Given the description of an element on the screen output the (x, y) to click on. 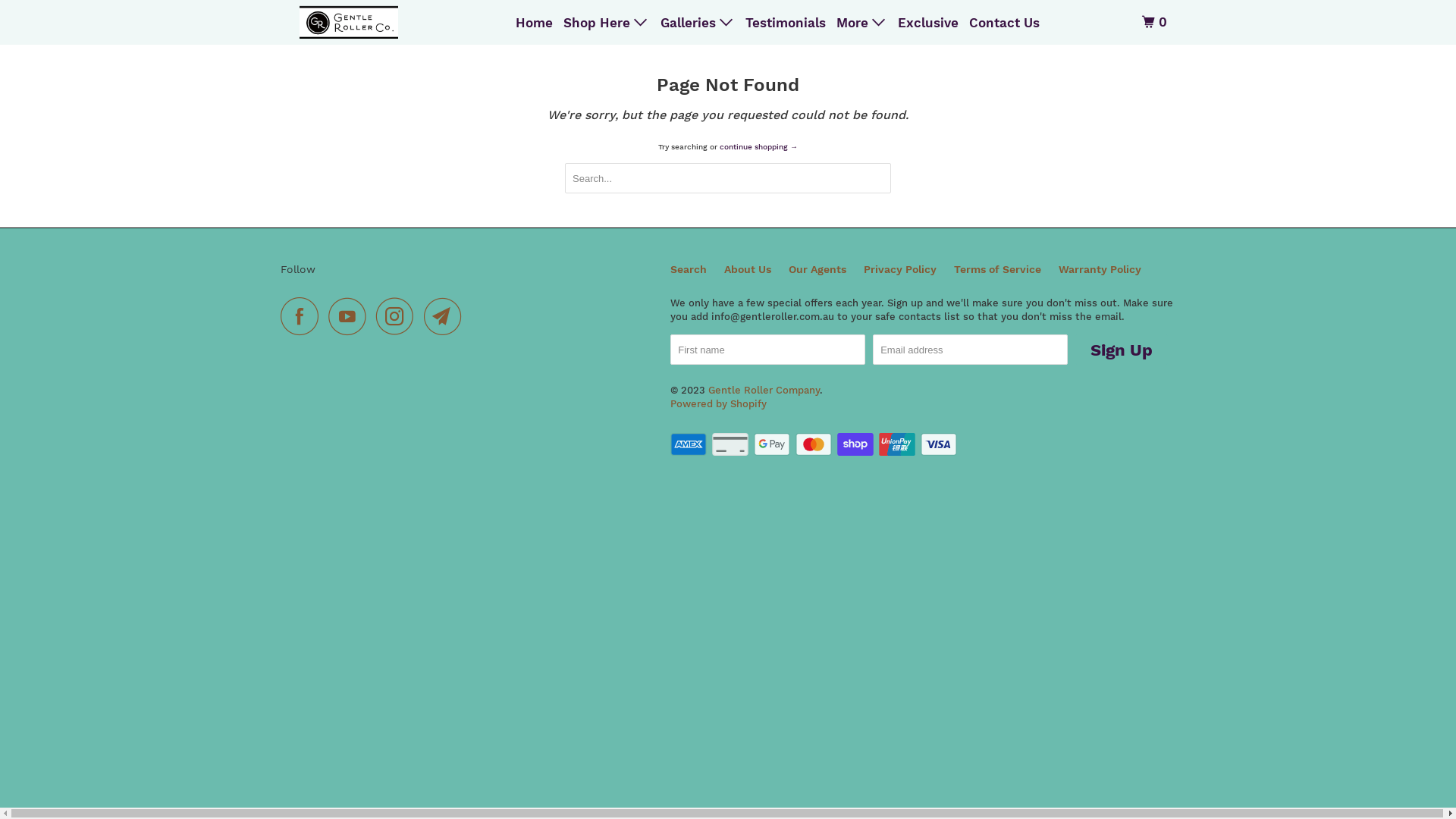
Testimonials Element type: text (785, 23)
0 Element type: text (1156, 22)
Gentle Roller Company Element type: hover (348, 22)
Warranty Policy Element type: text (1099, 269)
About Us Element type: text (747, 269)
More Element type: text (861, 22)
Powered by Shopify Element type: text (718, 403)
Privacy Policy Element type: text (899, 269)
Gentle Roller Company on Facebook Element type: hover (303, 316)
Terms of Service Element type: text (997, 269)
Gentle Roller Company Element type: text (763, 389)
Email Gentle Roller Company Element type: hover (446, 316)
Sign Up Element type: text (1121, 349)
Gentle Roller Company on Instagram Element type: hover (398, 316)
Shop Here Element type: text (606, 22)
Home Element type: text (533, 23)
Our Agents Element type: text (817, 269)
Search Element type: text (688, 269)
Galleries Element type: text (697, 22)
Exclusive Element type: text (927, 23)
Contact Us Element type: text (1004, 23)
Gentle Roller Company on YouTube Element type: hover (350, 316)
